Given the description of an element on the screen output the (x, y) to click on. 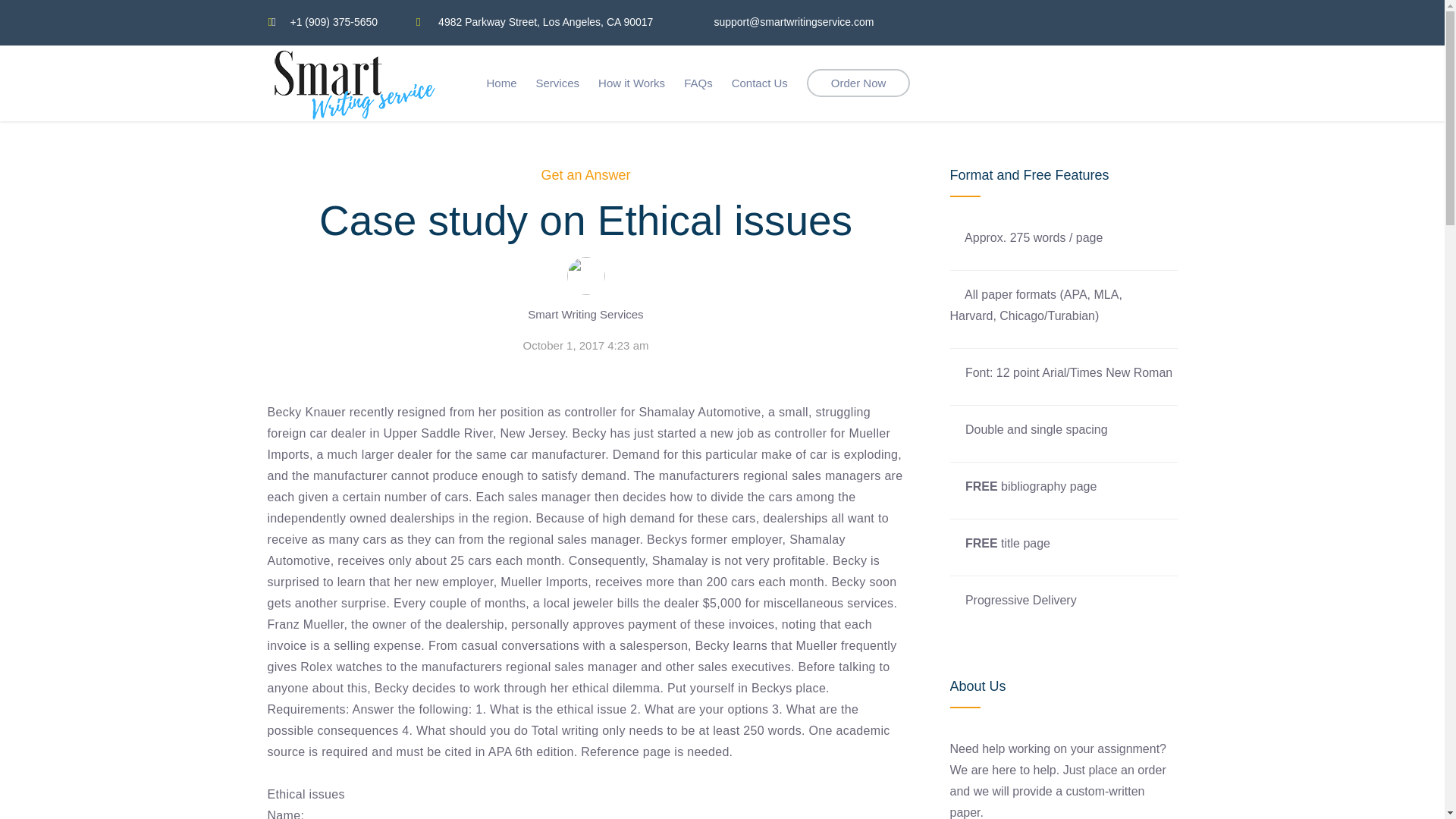
Order Now (858, 82)
Smart Writing Services (585, 314)
Get an Answer (585, 174)
View all posts by Smart Writing Services (585, 314)
